Given the description of an element on the screen output the (x, y) to click on. 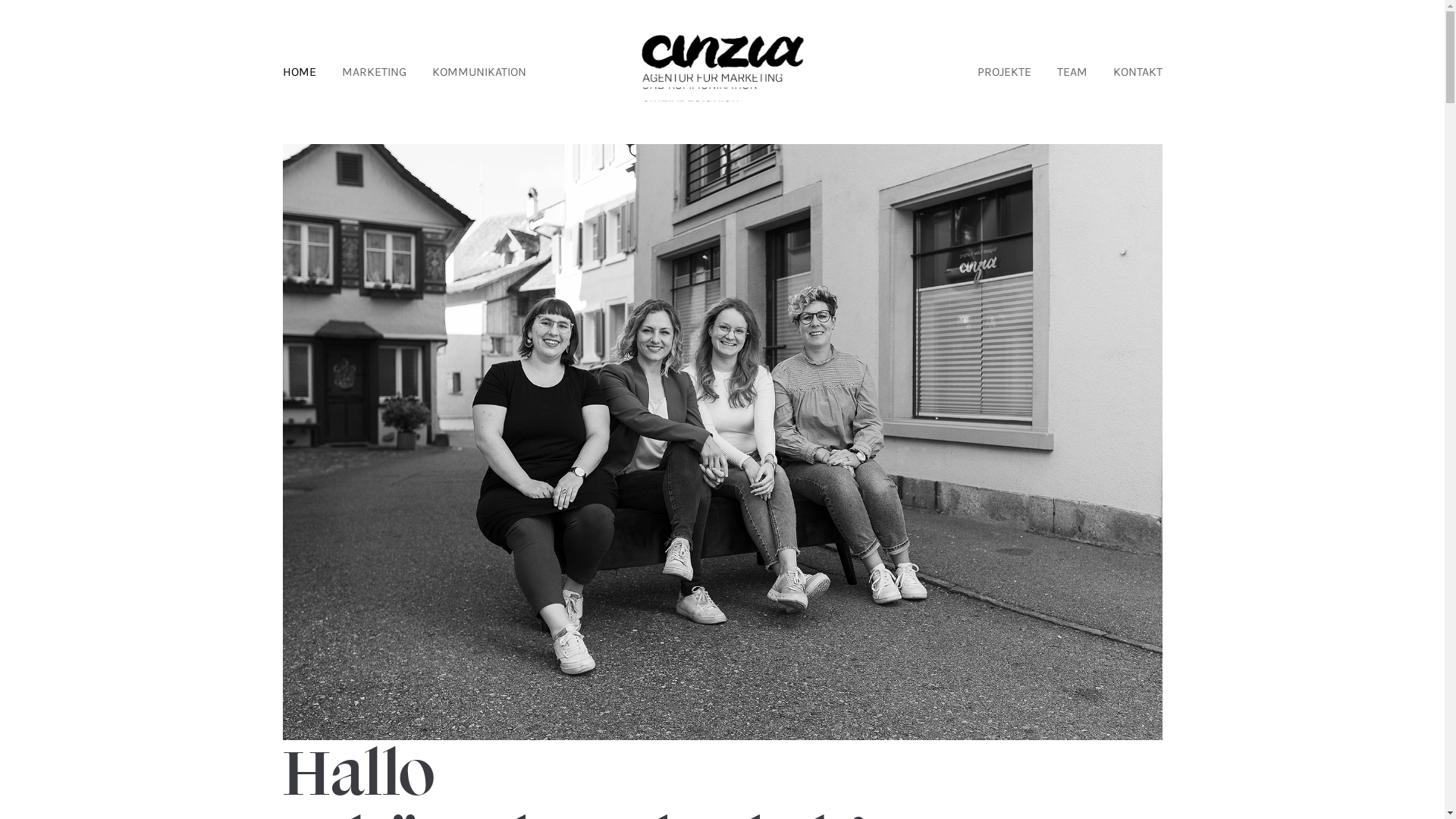
KOMMUNIKATION Element type: text (479, 72)
MARKETING Element type: text (373, 72)
PROJEKTE Element type: text (1003, 72)
KONTAKT Element type: text (1137, 72)
TEAM Element type: text (1072, 72)
HOME Element type: text (298, 72)
